Given the description of an element on the screen output the (x, y) to click on. 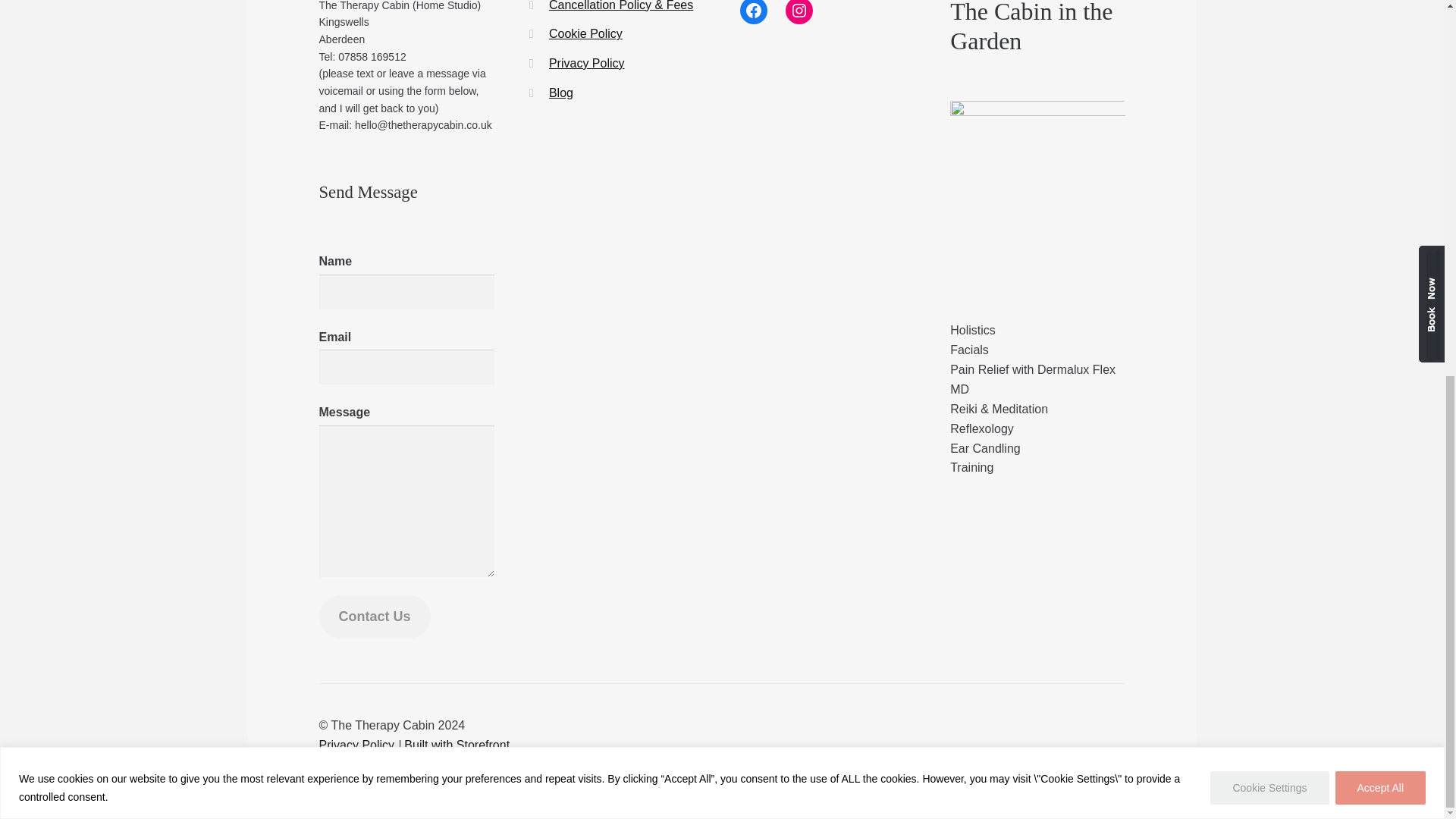
Accept All (1380, 95)
Cookie Settings (1268, 95)
